Given the description of an element on the screen output the (x, y) to click on. 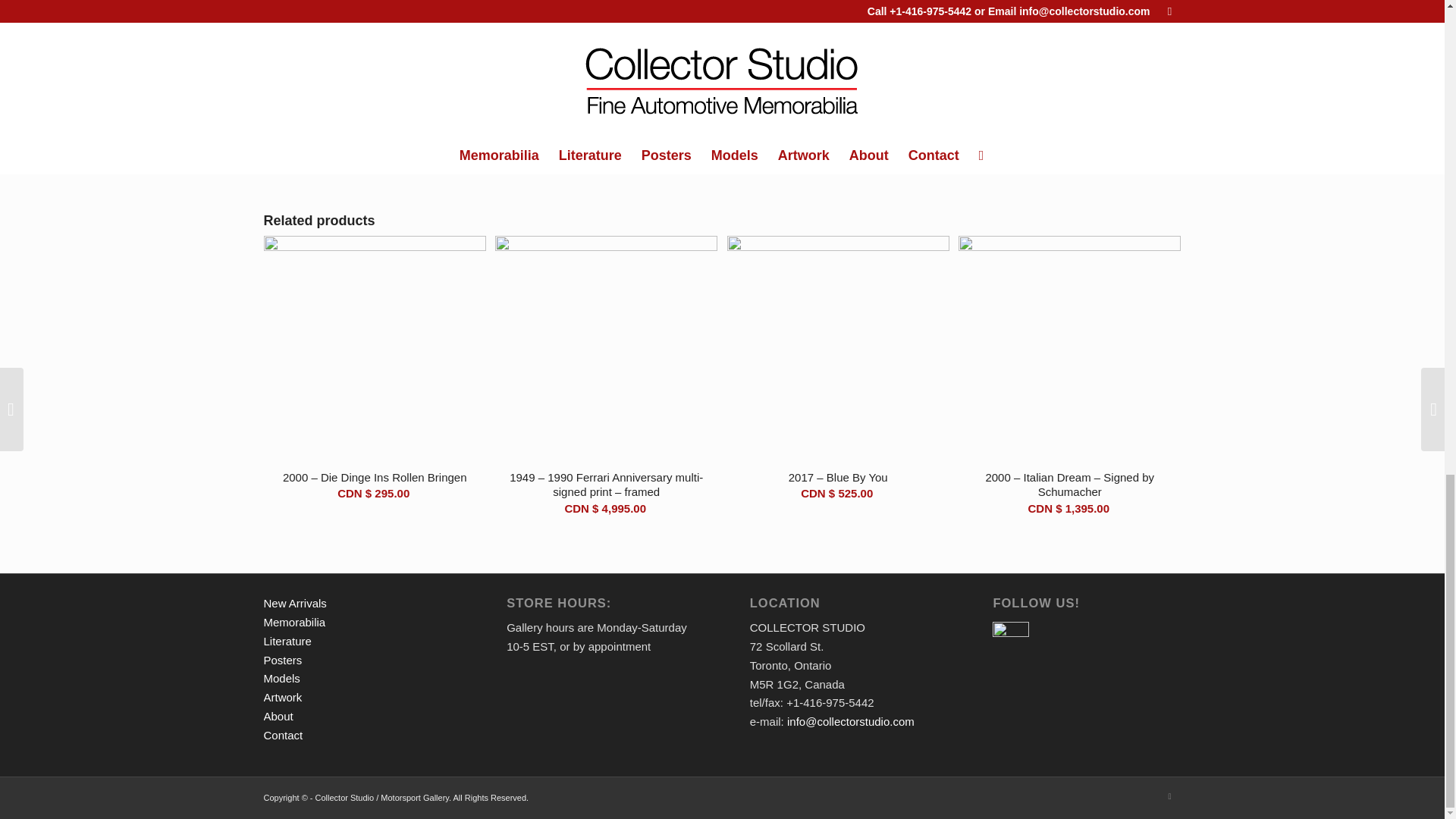
Instagram (1169, 795)
